Given the description of an element on the screen output the (x, y) to click on. 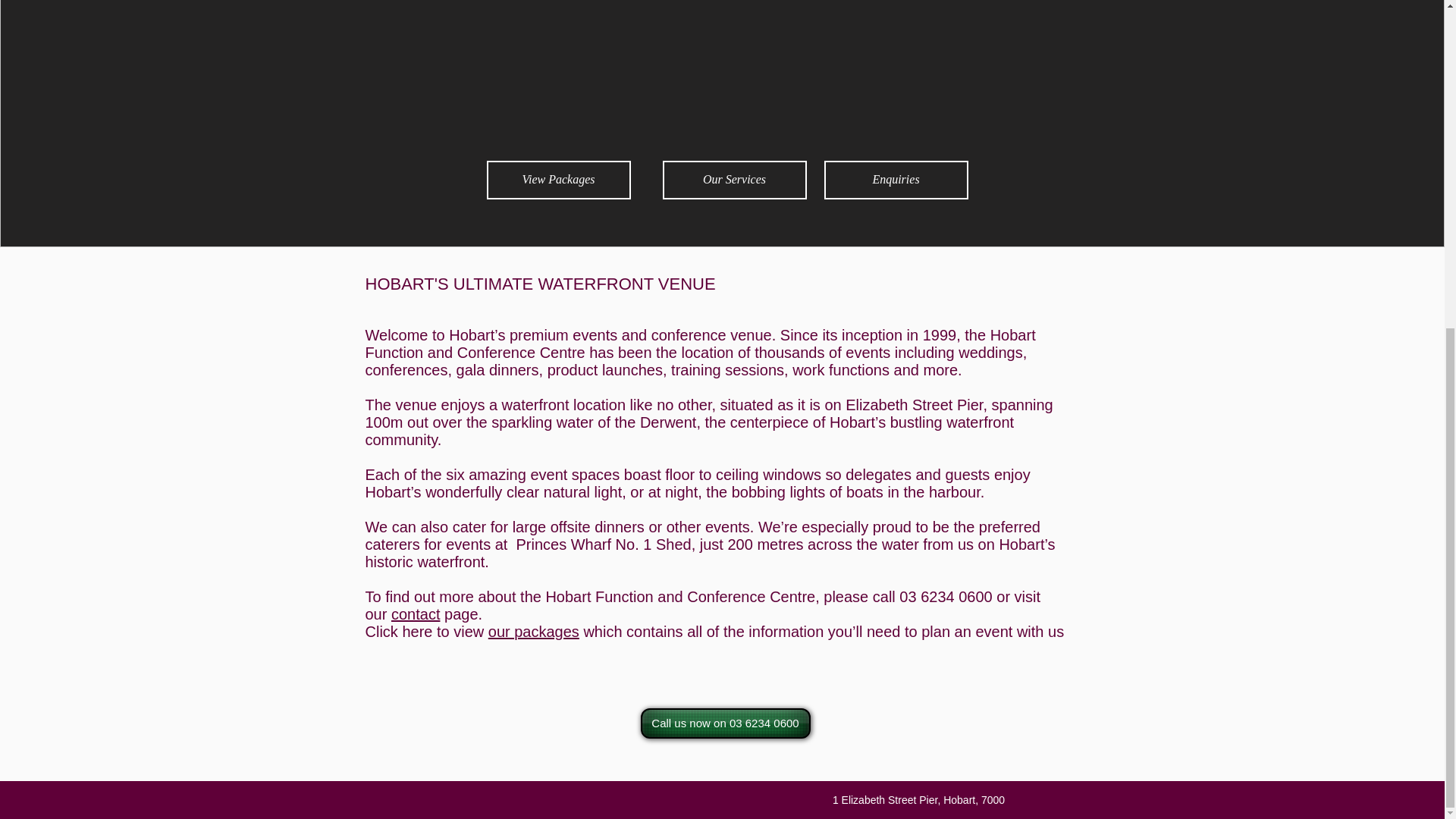
Our Services (734, 179)
Call us now on 03 6234 0600 (724, 723)
our packages (533, 631)
contact (415, 614)
View Packages (558, 179)
Enquiries (896, 179)
